Given the description of an element on the screen output the (x, y) to click on. 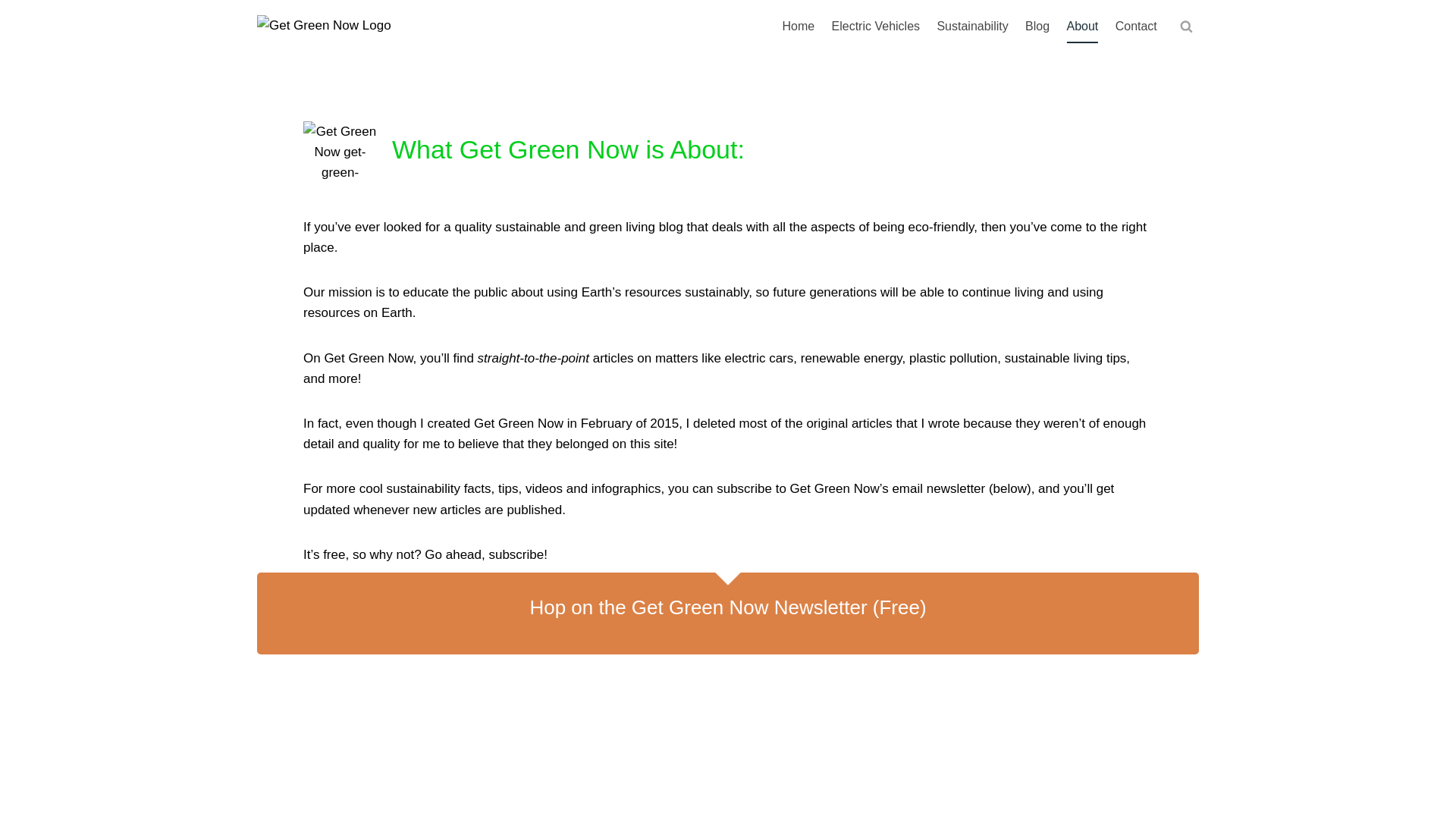
Electric Vehicles (875, 26)
Home (797, 26)
Contact (1136, 26)
About (1082, 26)
Blog (1037, 26)
Sustainability (972, 26)
